Given the description of an element on the screen output the (x, y) to click on. 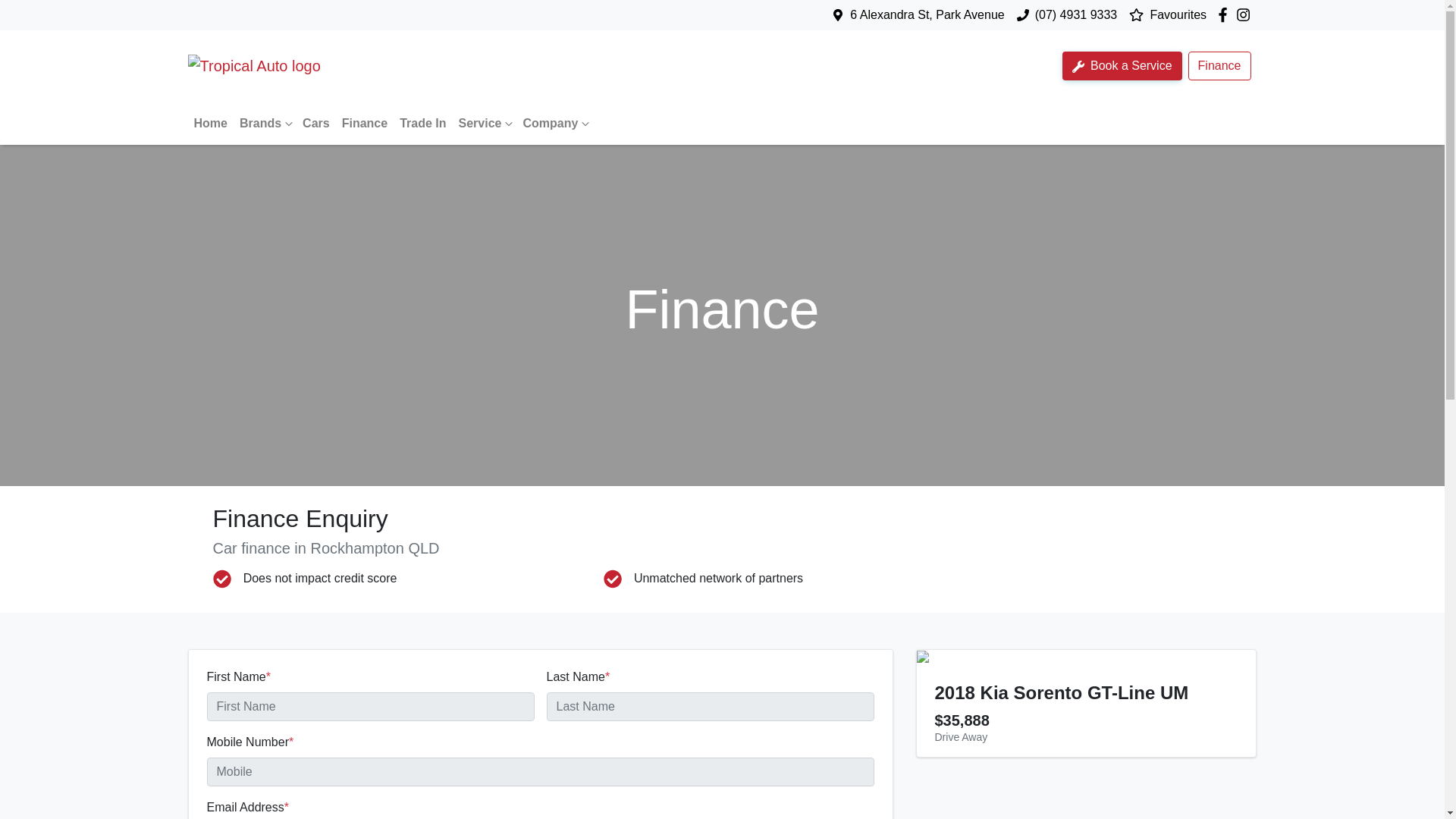
Favourites (1172, 14)
Company (554, 123)
Home (209, 123)
Brands (264, 123)
Cars (316, 123)
Finance (364, 123)
Service (483, 123)
Trade In (422, 123)
Book a Service (1122, 65)
Finance (1219, 65)
6 Alexandra St, Park Avenue (927, 14)
